Given the description of an element on the screen output the (x, y) to click on. 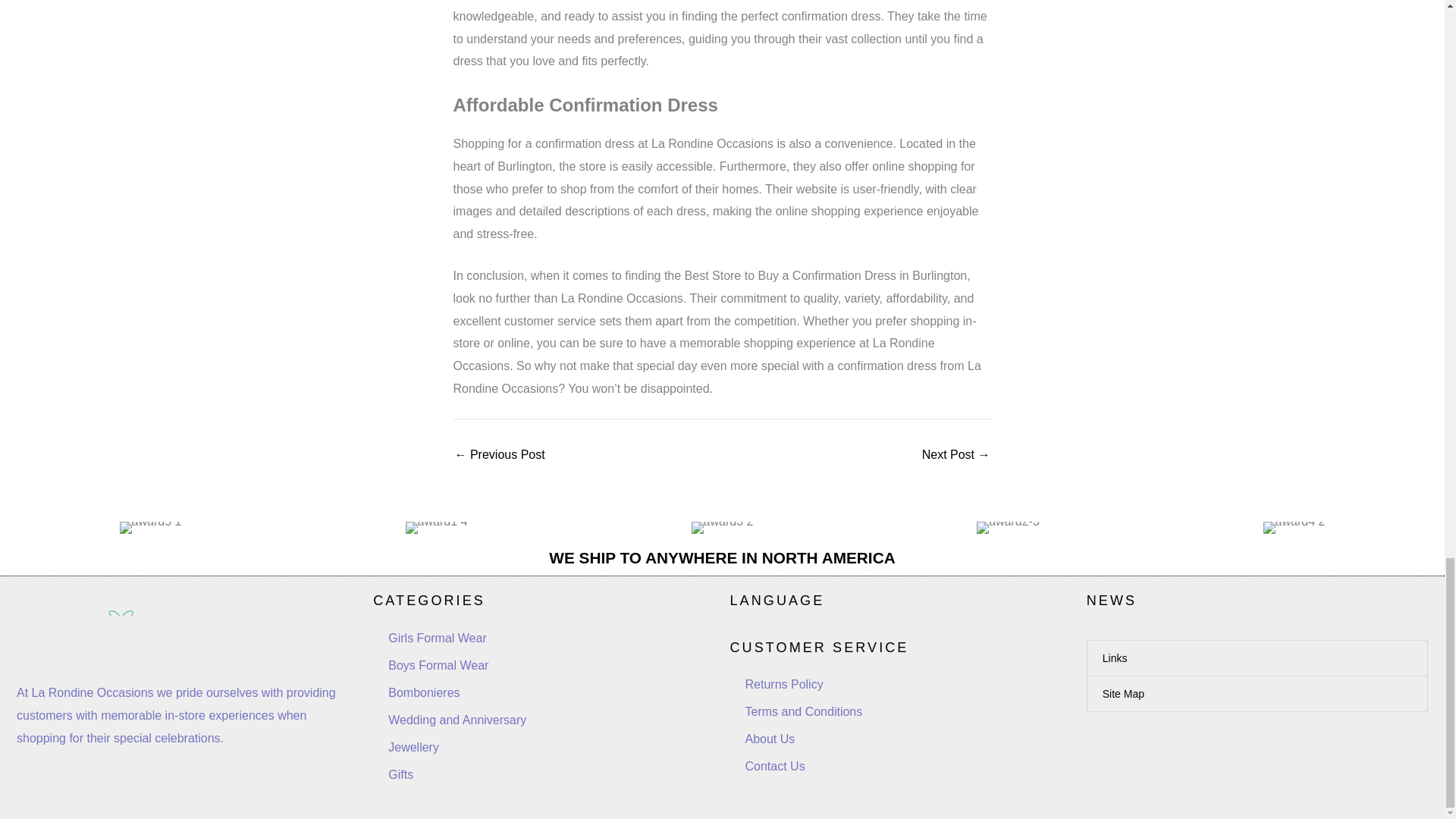
Can I Find A Modest Confirmation Dress in Burlington? (499, 454)
Where Can I Buy A Confirmation Dress in Brantford? (955, 454)
